Given the description of an element on the screen output the (x, y) to click on. 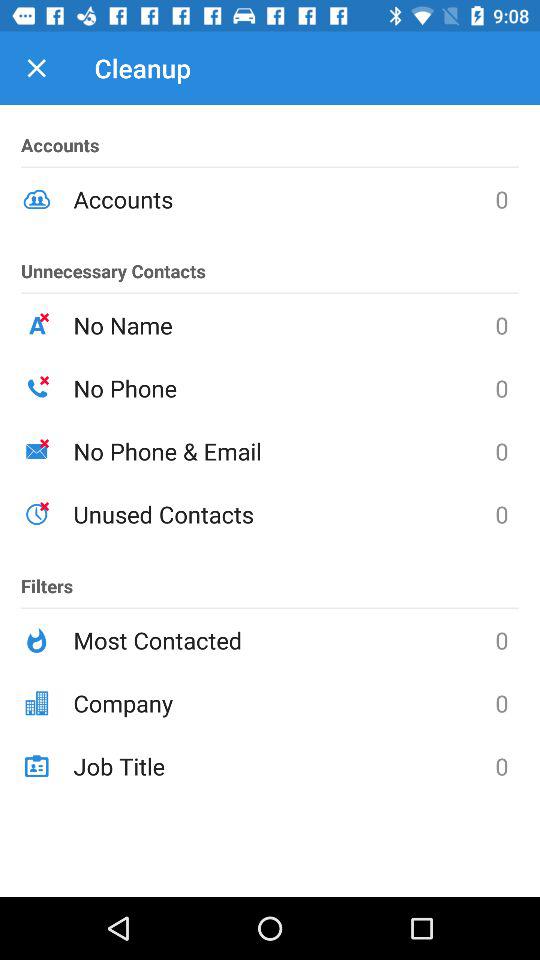
press the item below unnecessary contacts icon (284, 325)
